Given the description of an element on the screen output the (x, y) to click on. 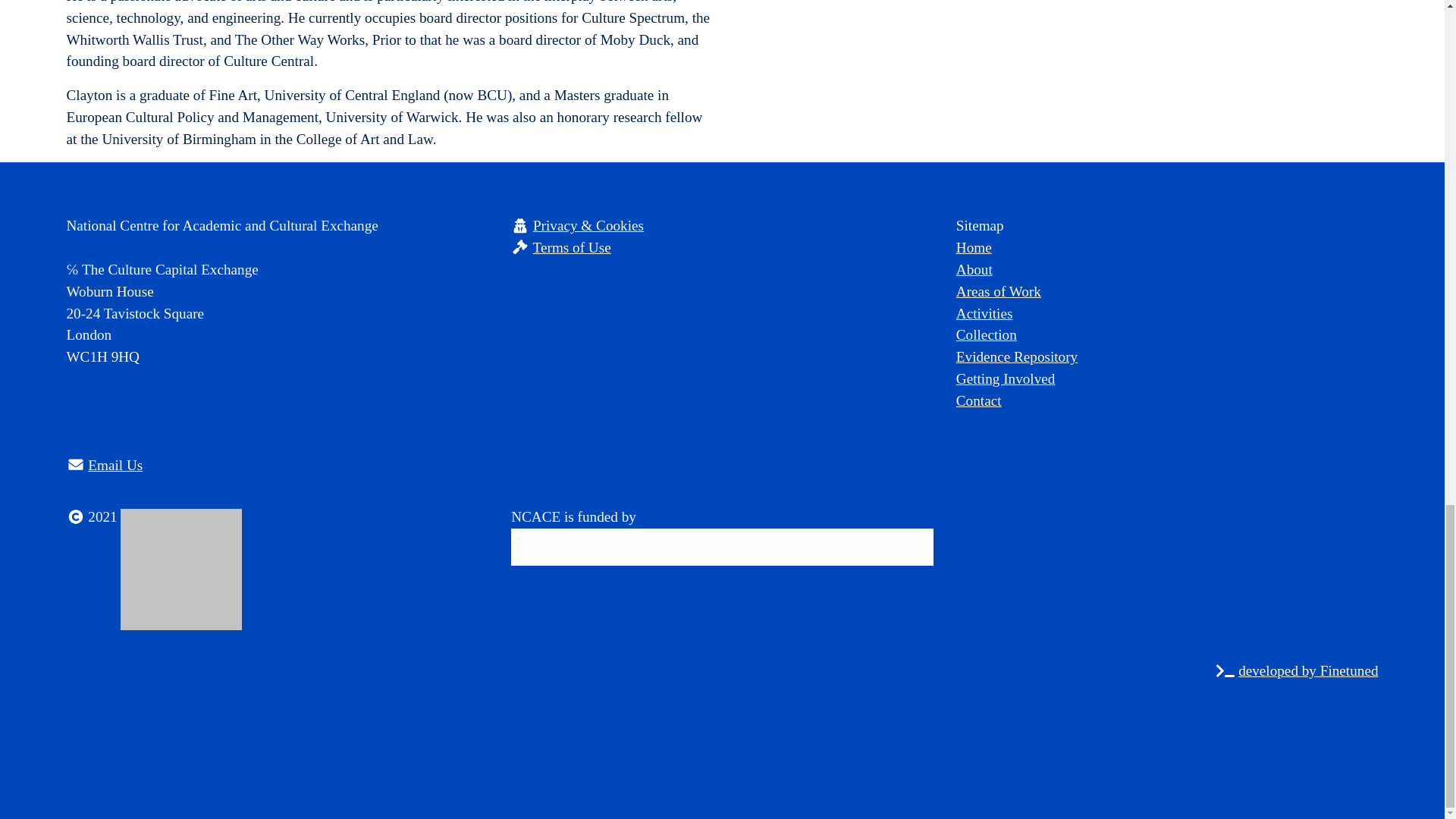
The Culture Capital Exchange (180, 568)
developed by Finetuned (1308, 670)
Contact (1167, 401)
Home (1167, 248)
Email Us (114, 465)
Evidence Repository (1167, 357)
About (1167, 270)
Areas of Work (1167, 292)
Collection (1167, 335)
